Given the description of an element on the screen output the (x, y) to click on. 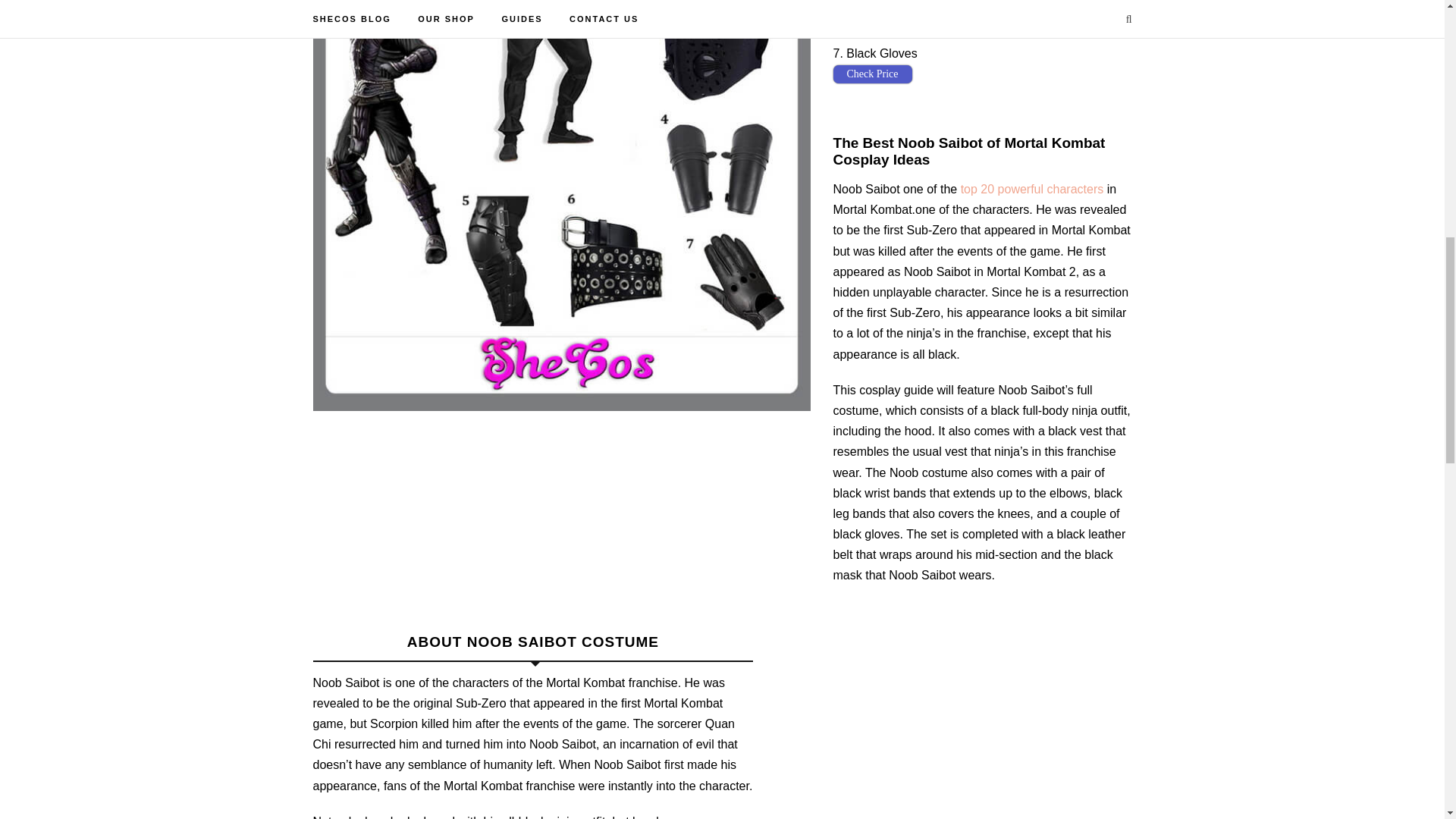
top 20 powerful characters (1031, 188)
Check Price on Amazon (872, 74)
Check Price on Amazon (872, 18)
Check Price (872, 18)
Check Price (872, 74)
